Given the description of an element on the screen output the (x, y) to click on. 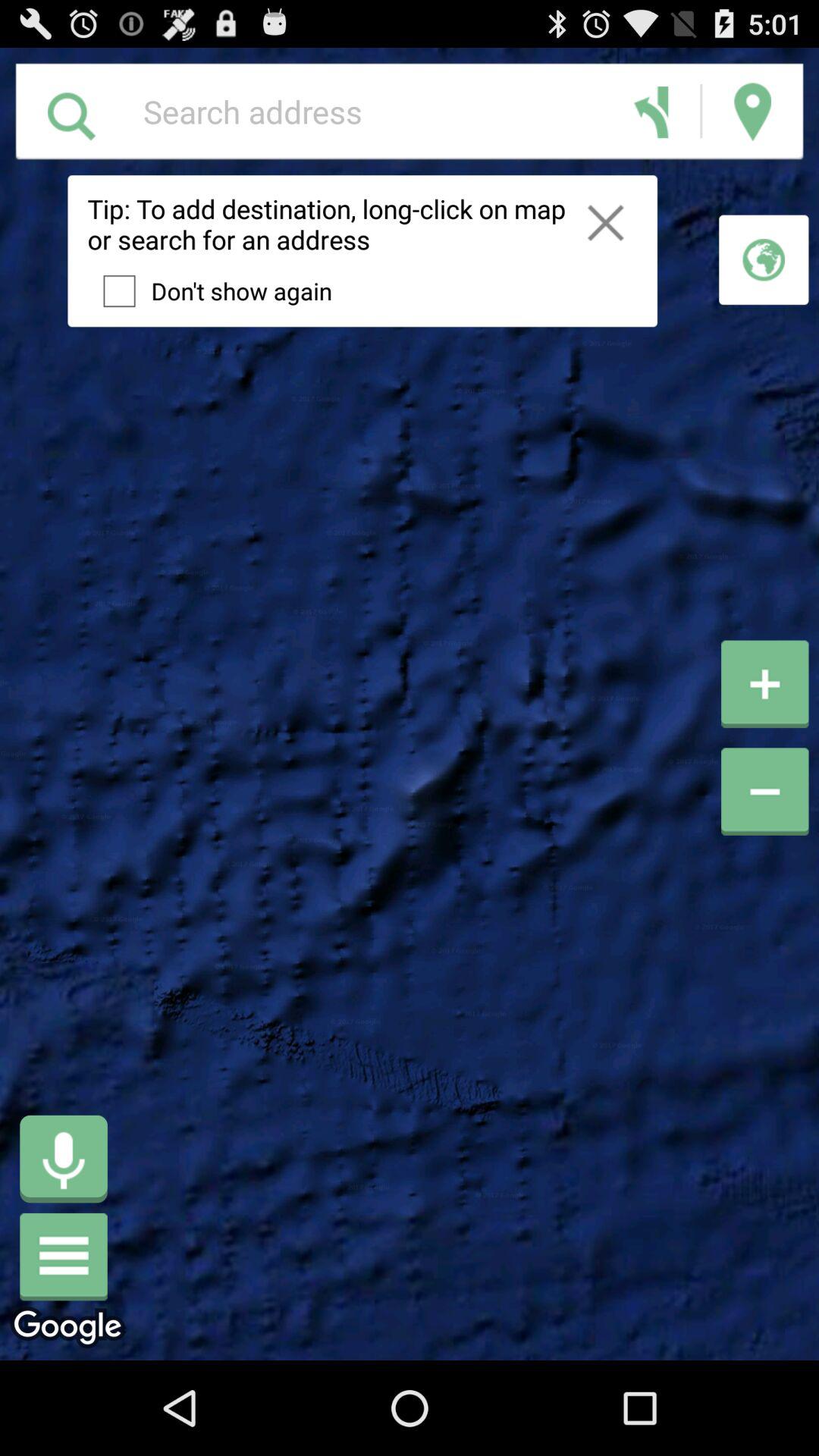
push to talk (63, 1158)
